Given the description of an element on the screen output the (x, y) to click on. 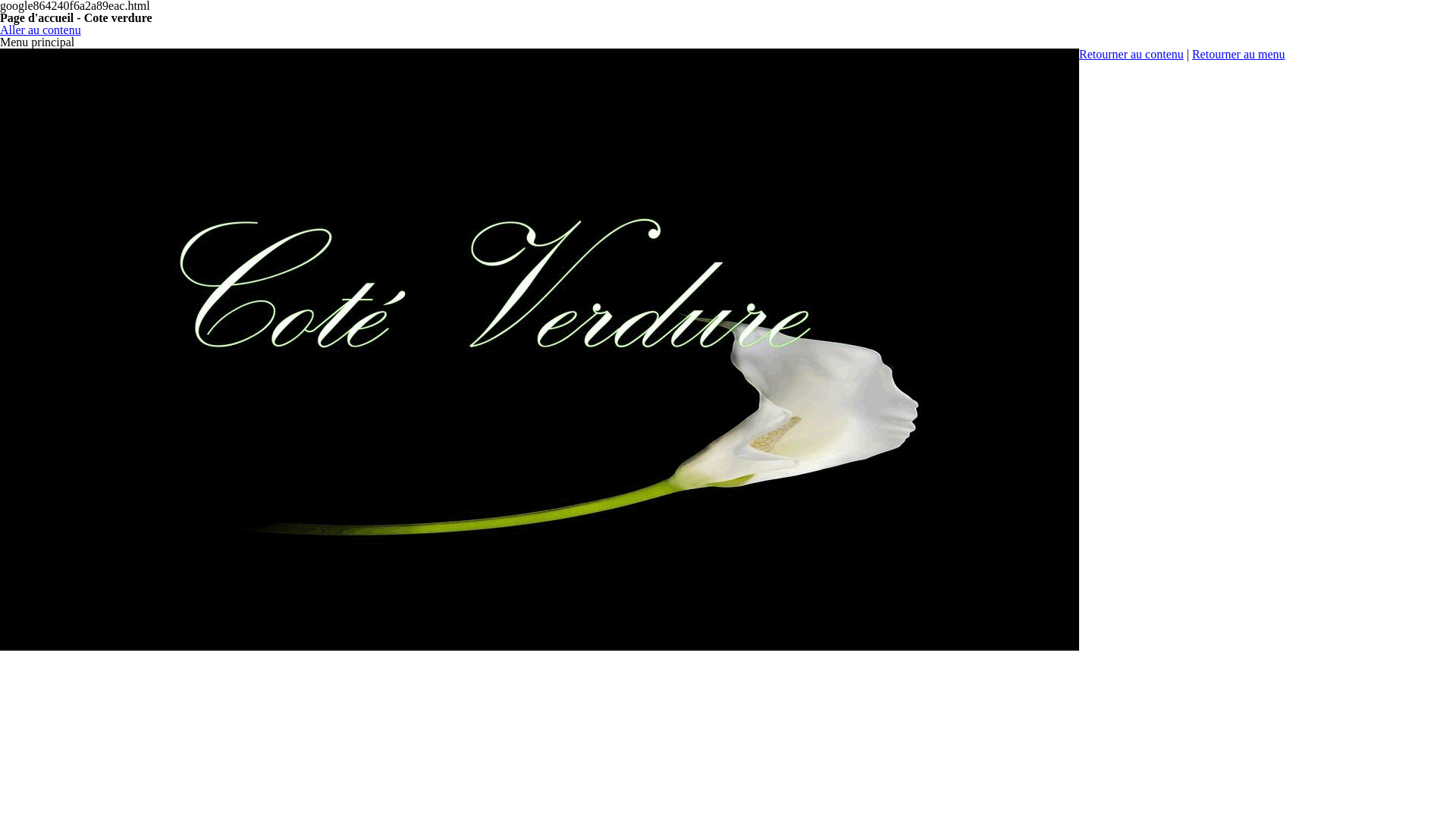
Retourner au menu Element type: text (1238, 53)
Retourner au contenu Element type: text (1131, 53)
Aller au contenu Element type: text (40, 29)
